Given the description of an element on the screen output the (x, y) to click on. 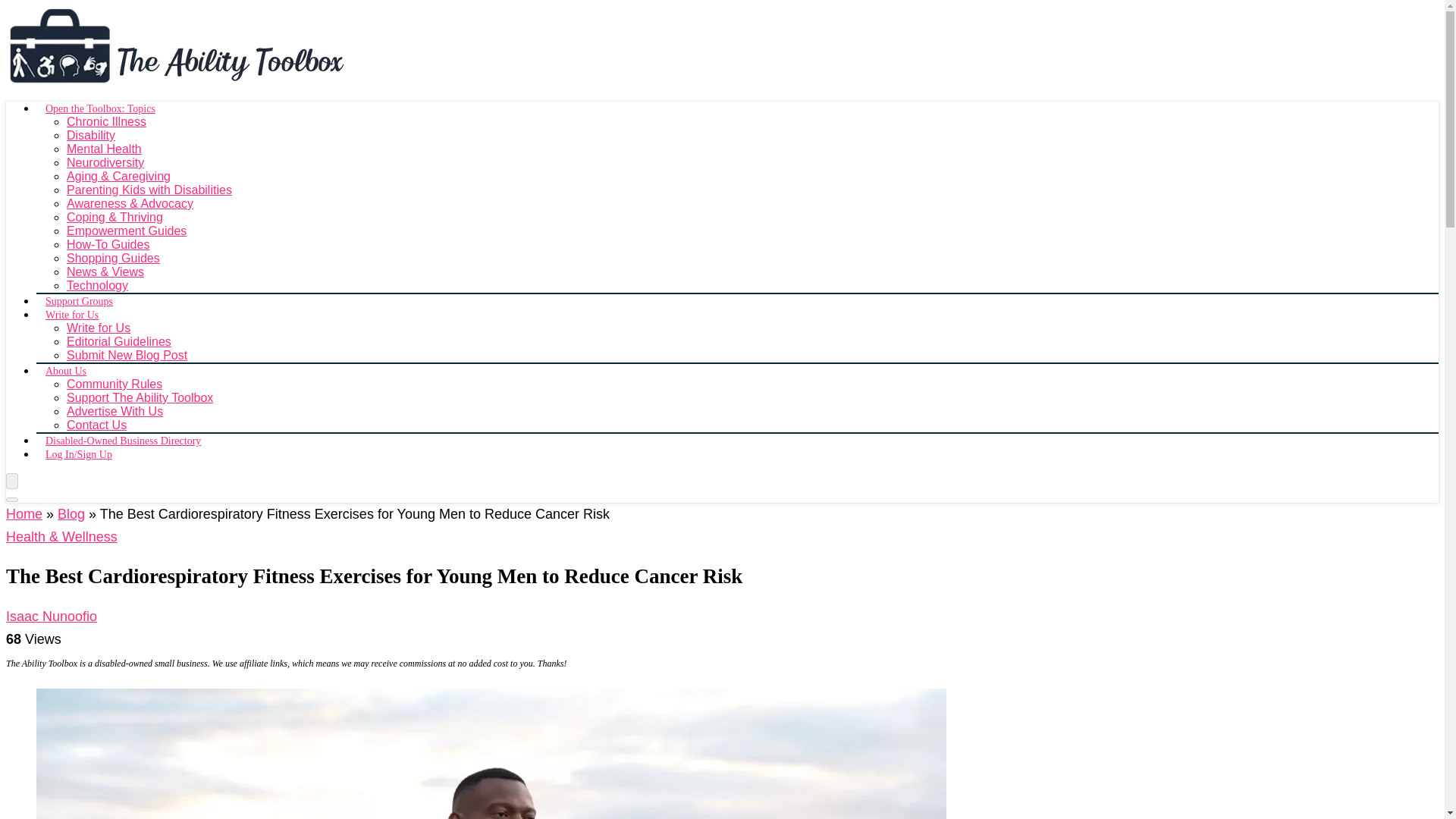
Home (23, 513)
Technology (97, 285)
Open the Toolbox: Topics (100, 110)
How-To Guides (107, 244)
Submit New Blog Post (126, 354)
Disabled-Owned Business Directory (122, 442)
Chronic Illness (106, 121)
Empowerment Guides (126, 230)
Parenting Kids with Disabilities (148, 189)
Isaac Nunoofio (51, 616)
Disability (90, 134)
Write for Us (98, 327)
Shopping Guides (113, 257)
Blog (71, 513)
Editorial Guidelines (118, 341)
